Given the description of an element on the screen output the (x, y) to click on. 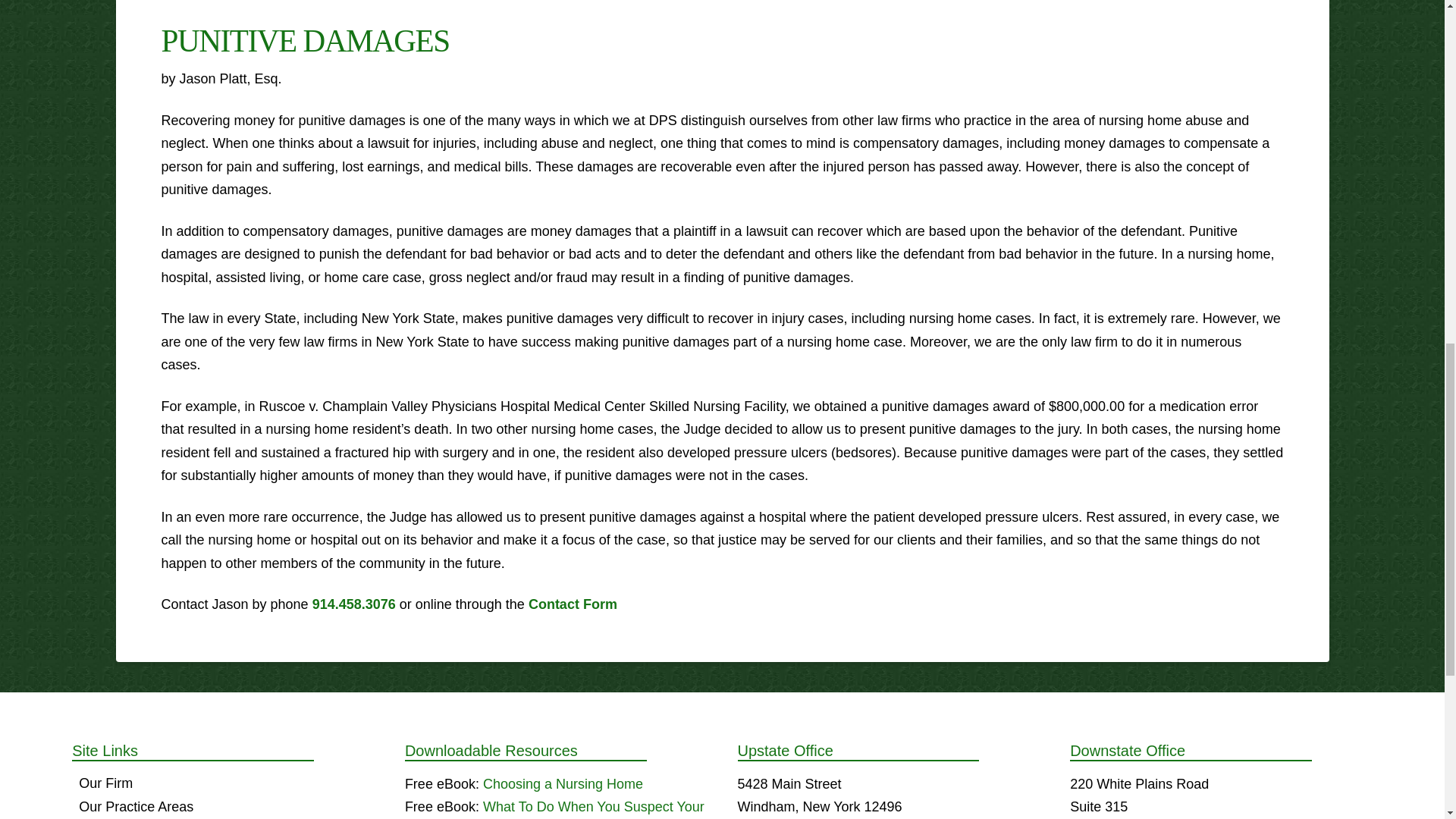
Contact Form (572, 604)
914.458.3076 (354, 604)
